Given the description of an element on the screen output the (x, y) to click on. 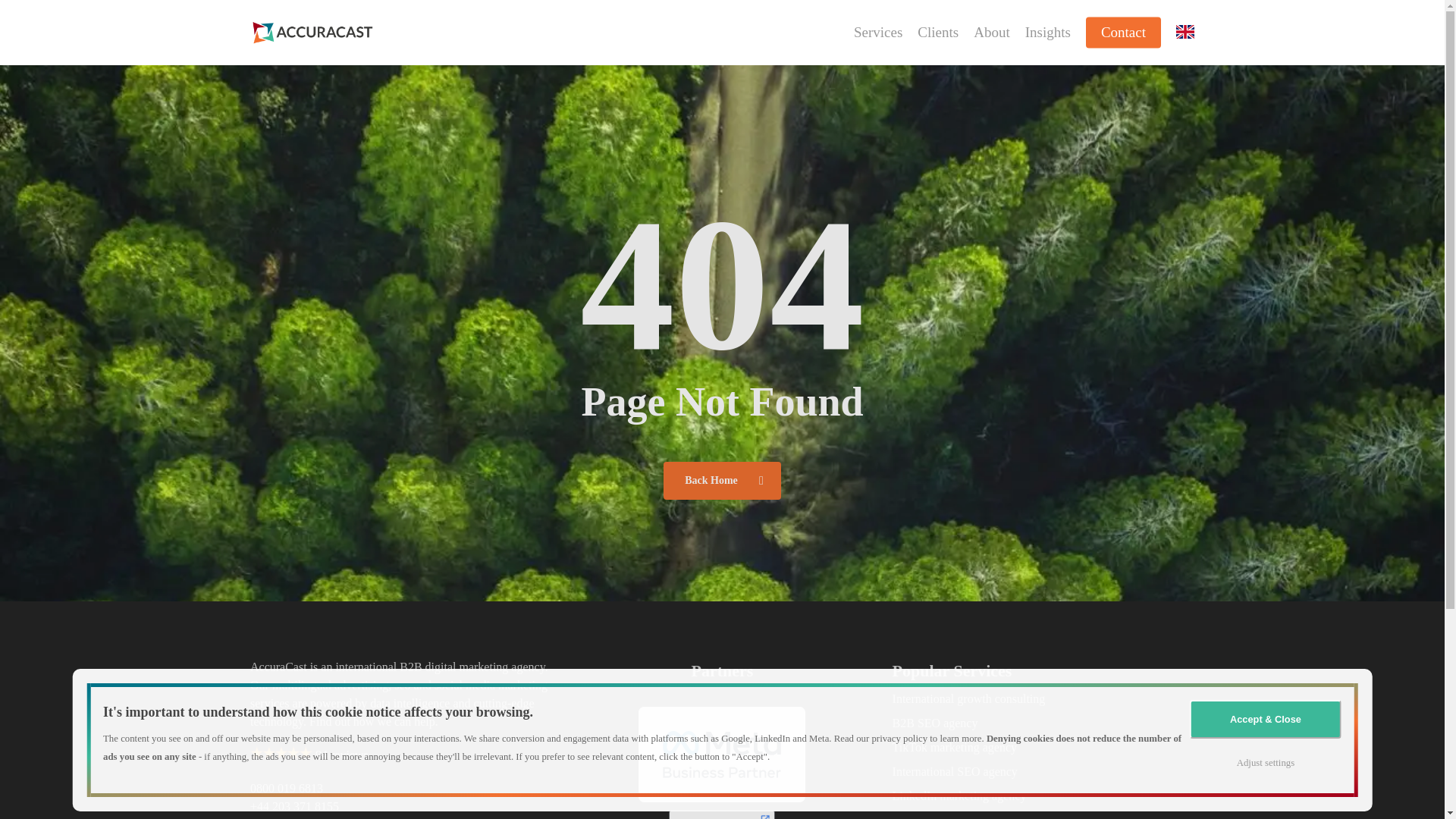
About (992, 32)
Clients (937, 32)
Services (877, 32)
